Given the description of an element on the screen output the (x, y) to click on. 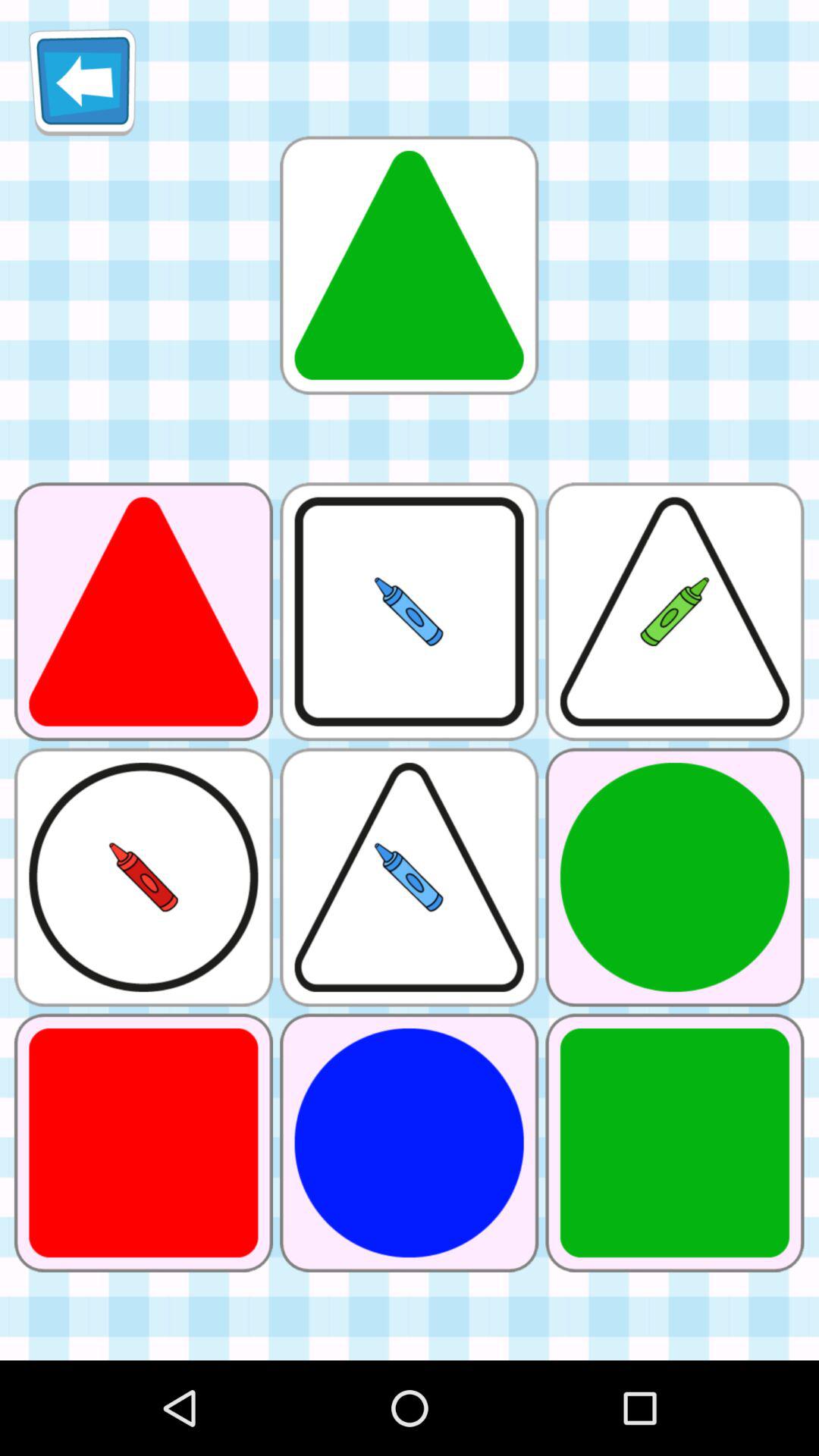
select triangle (409, 265)
